Given the description of an element on the screen output the (x, y) to click on. 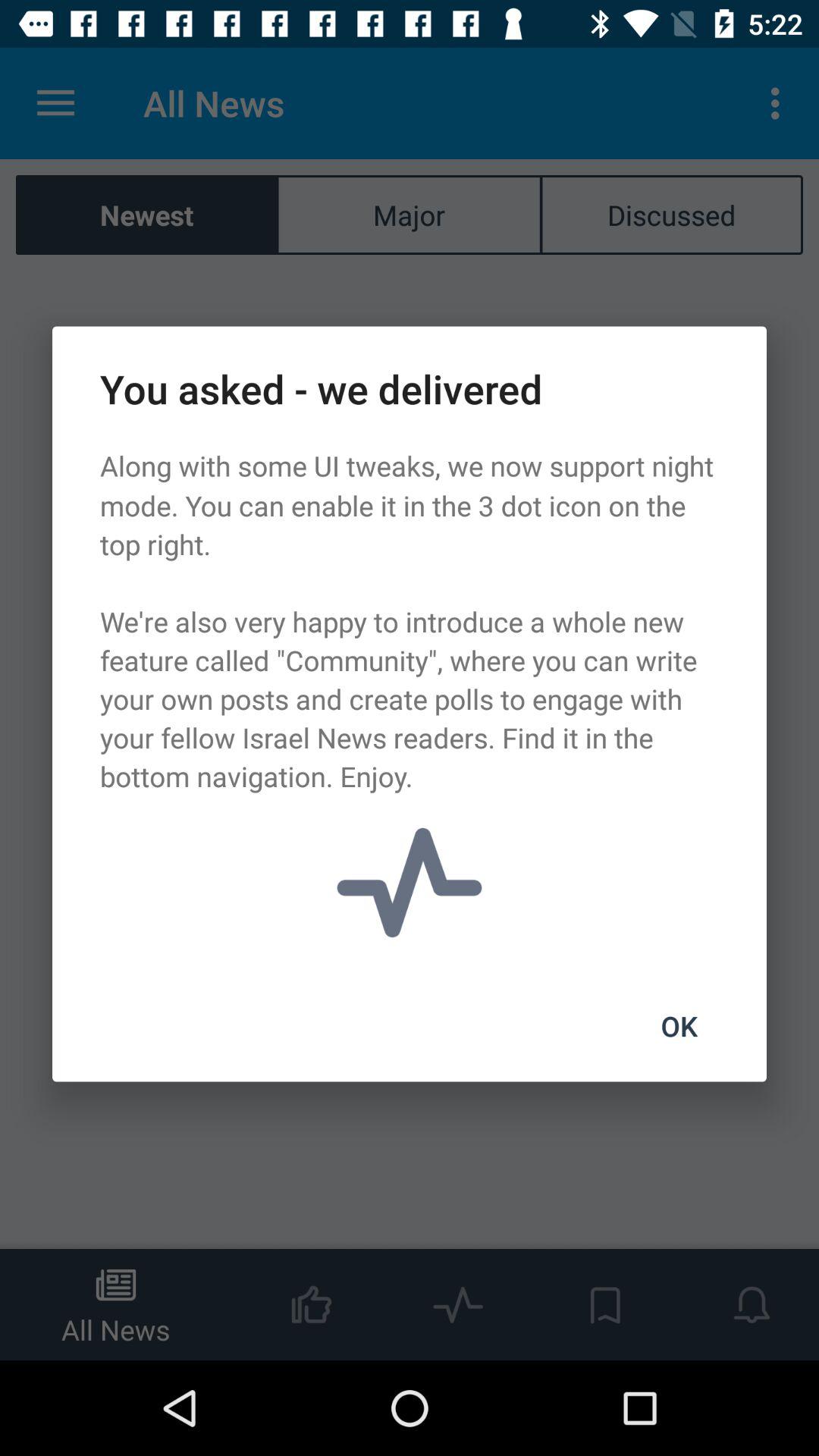
choose ok icon (678, 1025)
